Given the description of an element on the screen output the (x, y) to click on. 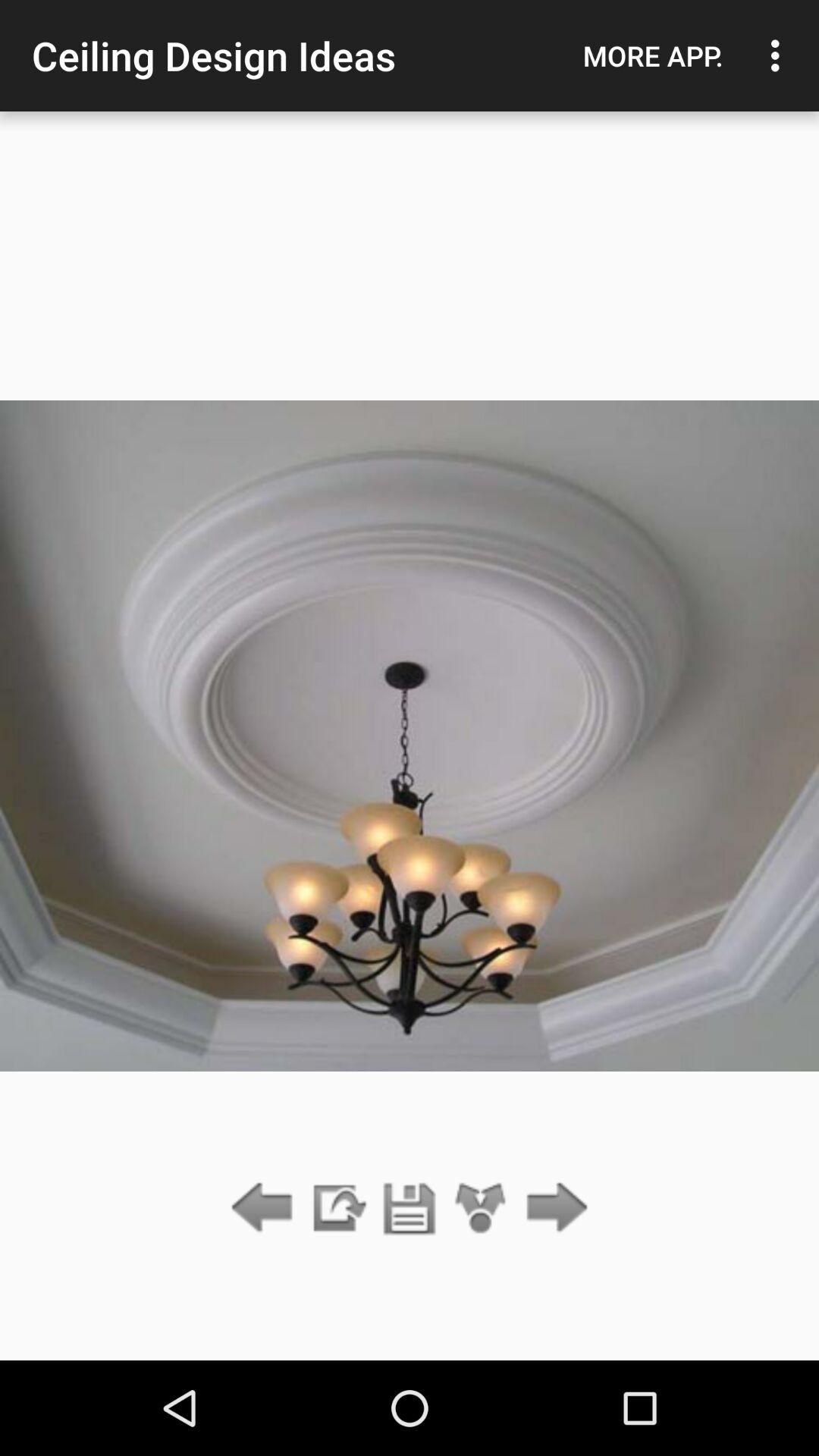
save current photo (409, 1208)
